Given the description of an element on the screen output the (x, y) to click on. 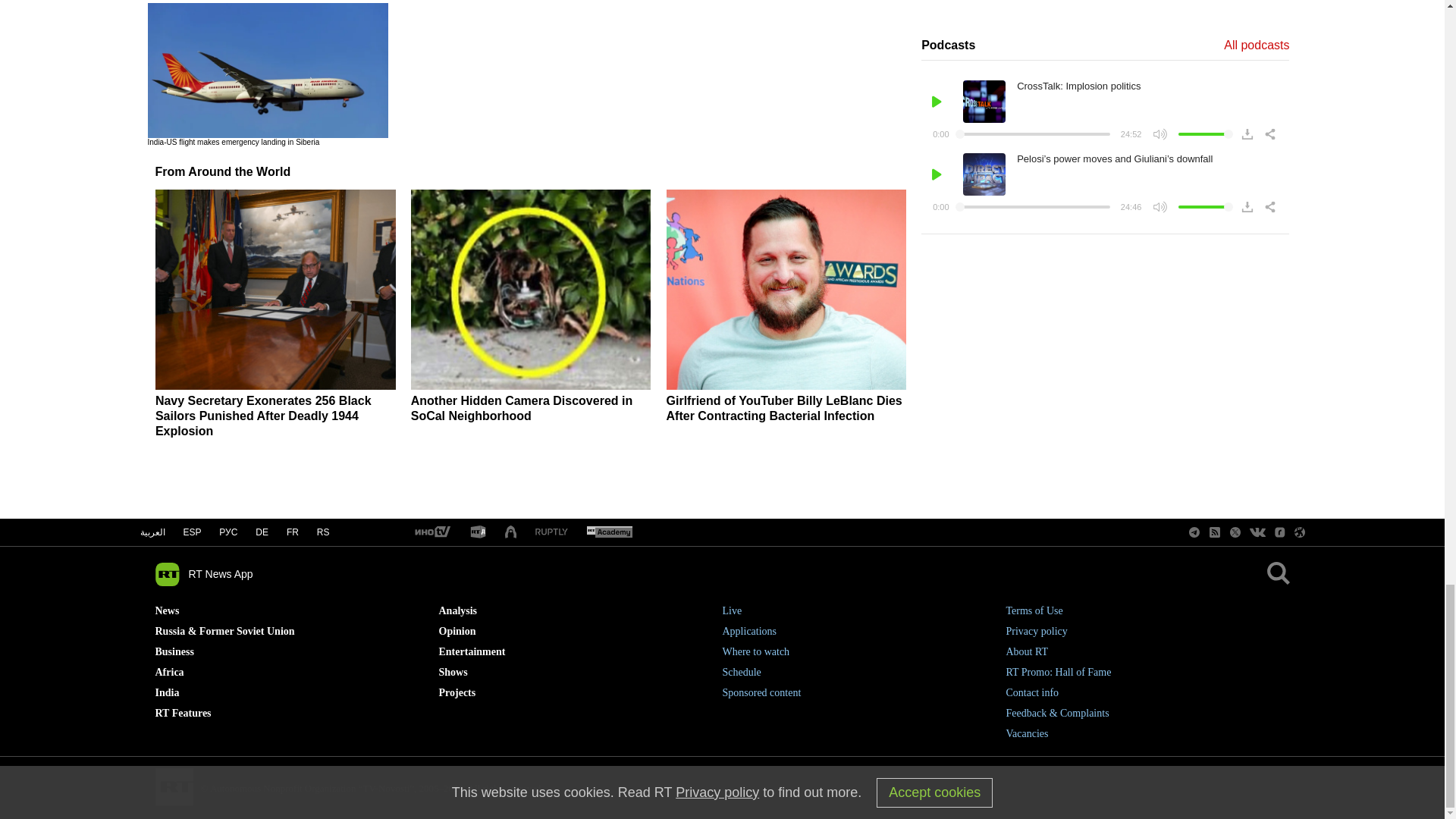
RT  (478, 532)
RT  (431, 532)
RT  (608, 532)
RT  (551, 532)
